Given the description of an element on the screen output the (x, y) to click on. 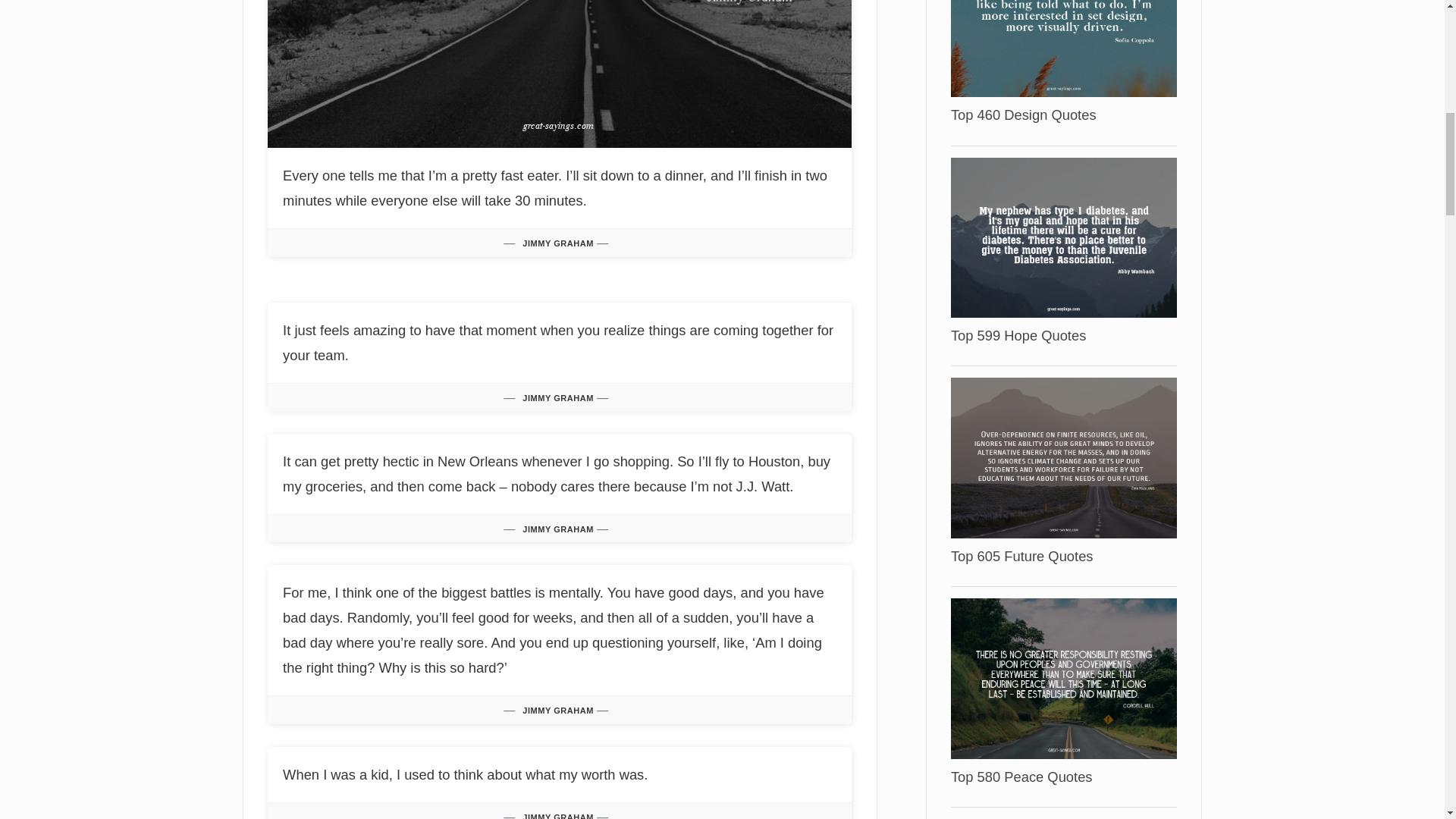
Top 605 Future Quotes (1021, 555)
Top 605 Future Quotes (1063, 457)
Top 599 Hope Quotes (1018, 335)
Top 599 Hope Quotes (1018, 335)
Top 460 Design Quotes (1063, 15)
Top 580 Peace Quotes (1063, 676)
Top 460 Design Quotes (1023, 114)
Top 460 Design Quotes (1023, 114)
Top 605 Future Quotes (1021, 555)
Top 599 Hope Quotes (1063, 236)
Top 580 Peace Quotes (1021, 776)
Top 580 Peace Quotes (1021, 776)
